Given the description of an element on the screen output the (x, y) to click on. 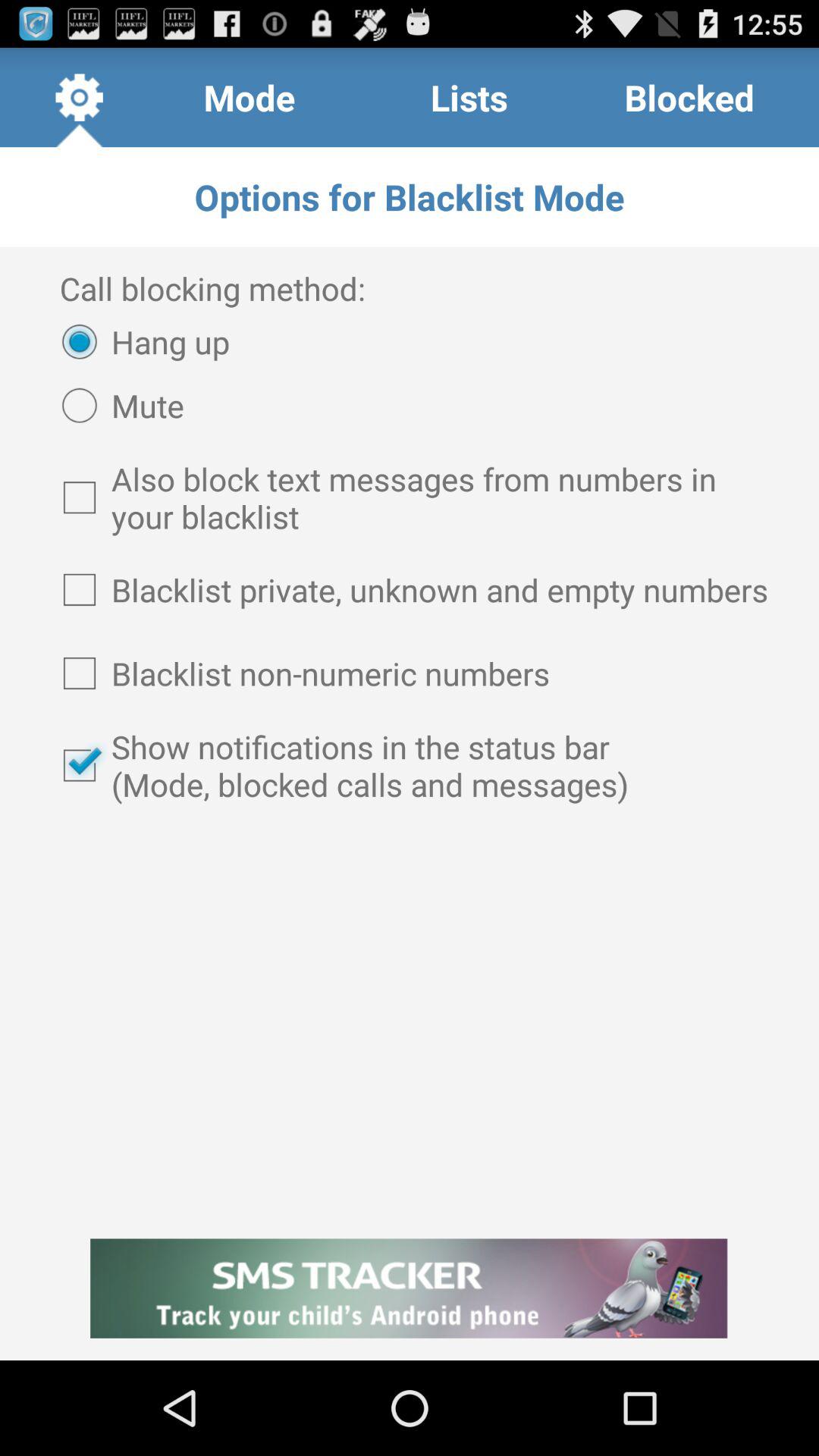
jump to blacklist private unknown (409, 589)
